Given the description of an element on the screen output the (x, y) to click on. 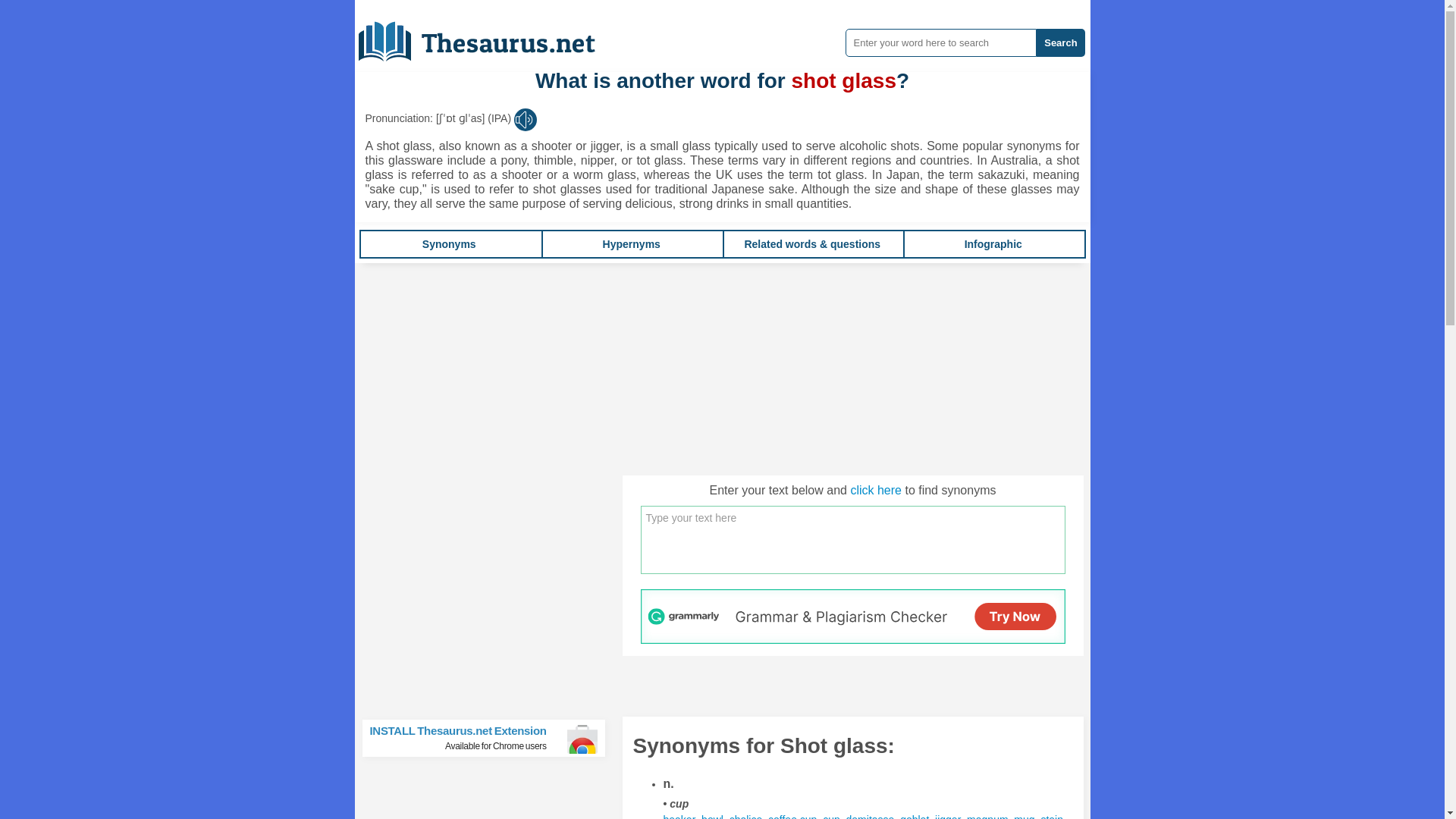
Infographic (992, 244)
Synonyms for Shot glass (947, 816)
demitasse (489, 737)
Synonyms for Shot glass (870, 816)
Synonyms for Shot glass (1051, 816)
Synonyms (745, 816)
Synonyms for Shot glass (449, 244)
jigger (831, 816)
Synonyms (947, 816)
